Given the description of an element on the screen output the (x, y) to click on. 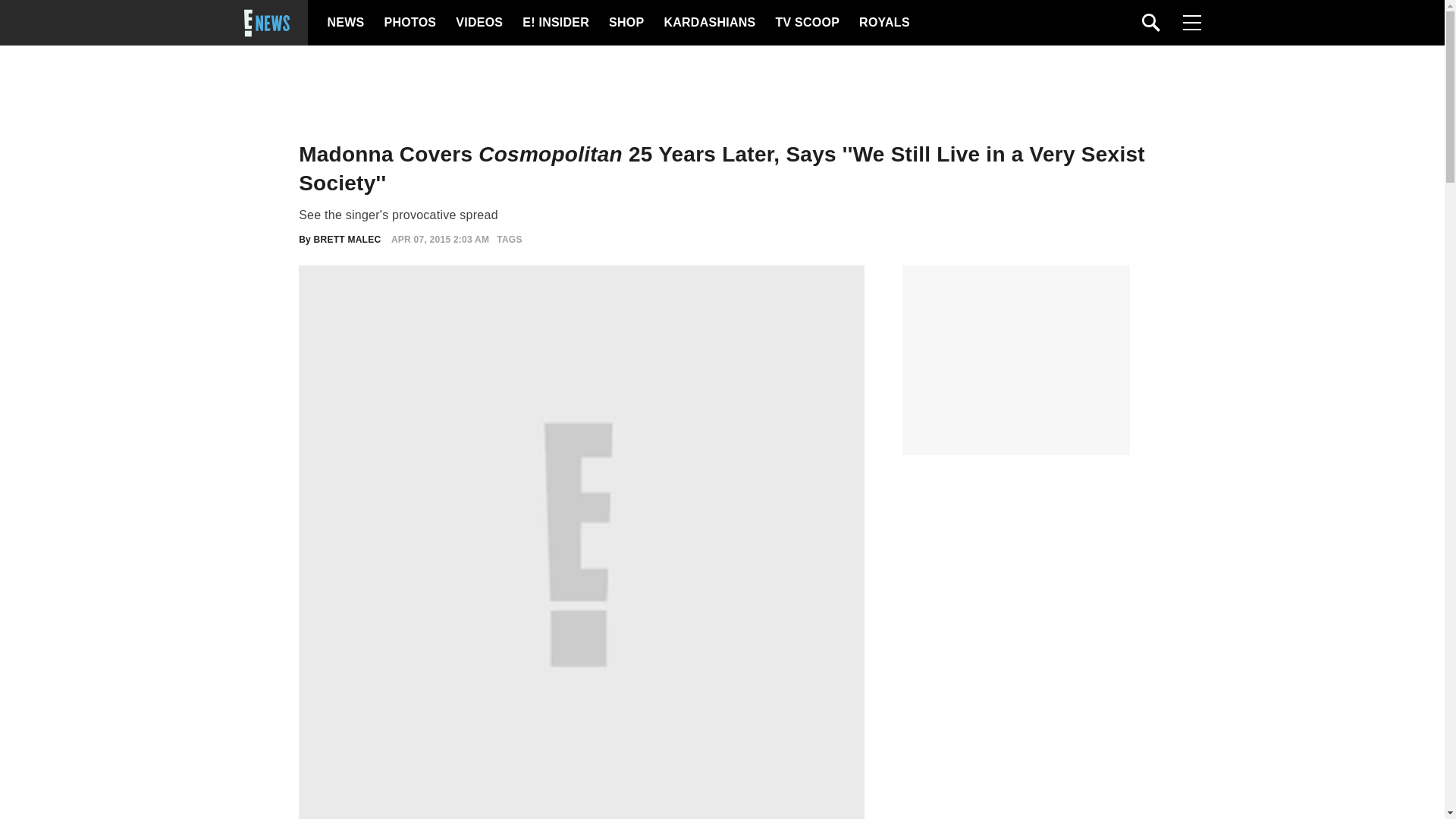
E! INSIDER (555, 22)
NEWS (345, 22)
ROYALS (883, 22)
BRETT MALEC (347, 239)
TV SCOOP (806, 22)
PHOTOS (408, 22)
SHOP (625, 22)
VIDEOS (478, 22)
KARDASHIANS (708, 22)
